Given the description of an element on the screen output the (x, y) to click on. 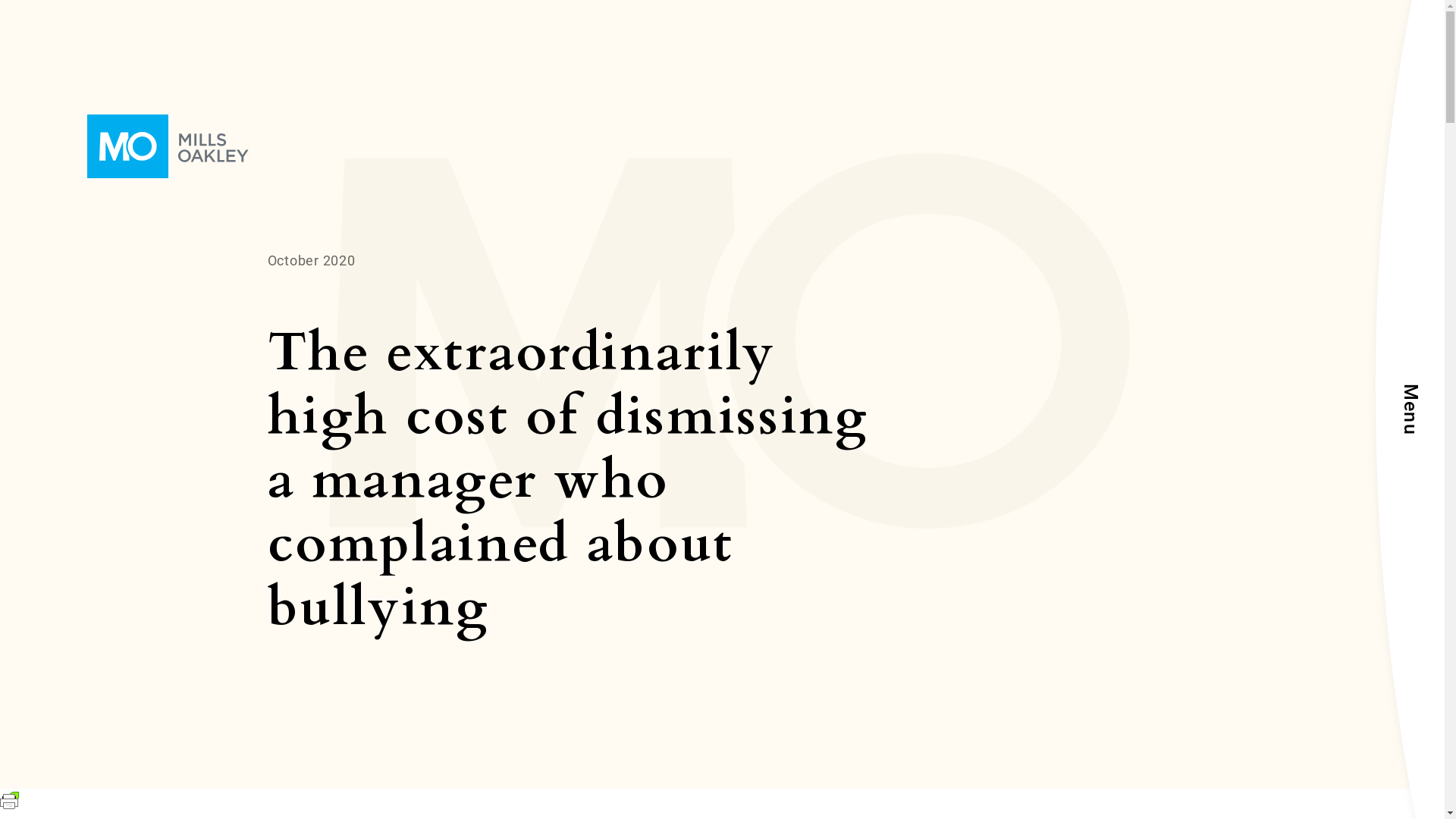
Printer Friendly, PDF & Email Element type: hover (9, 804)
